Given the description of an element on the screen output the (x, y) to click on. 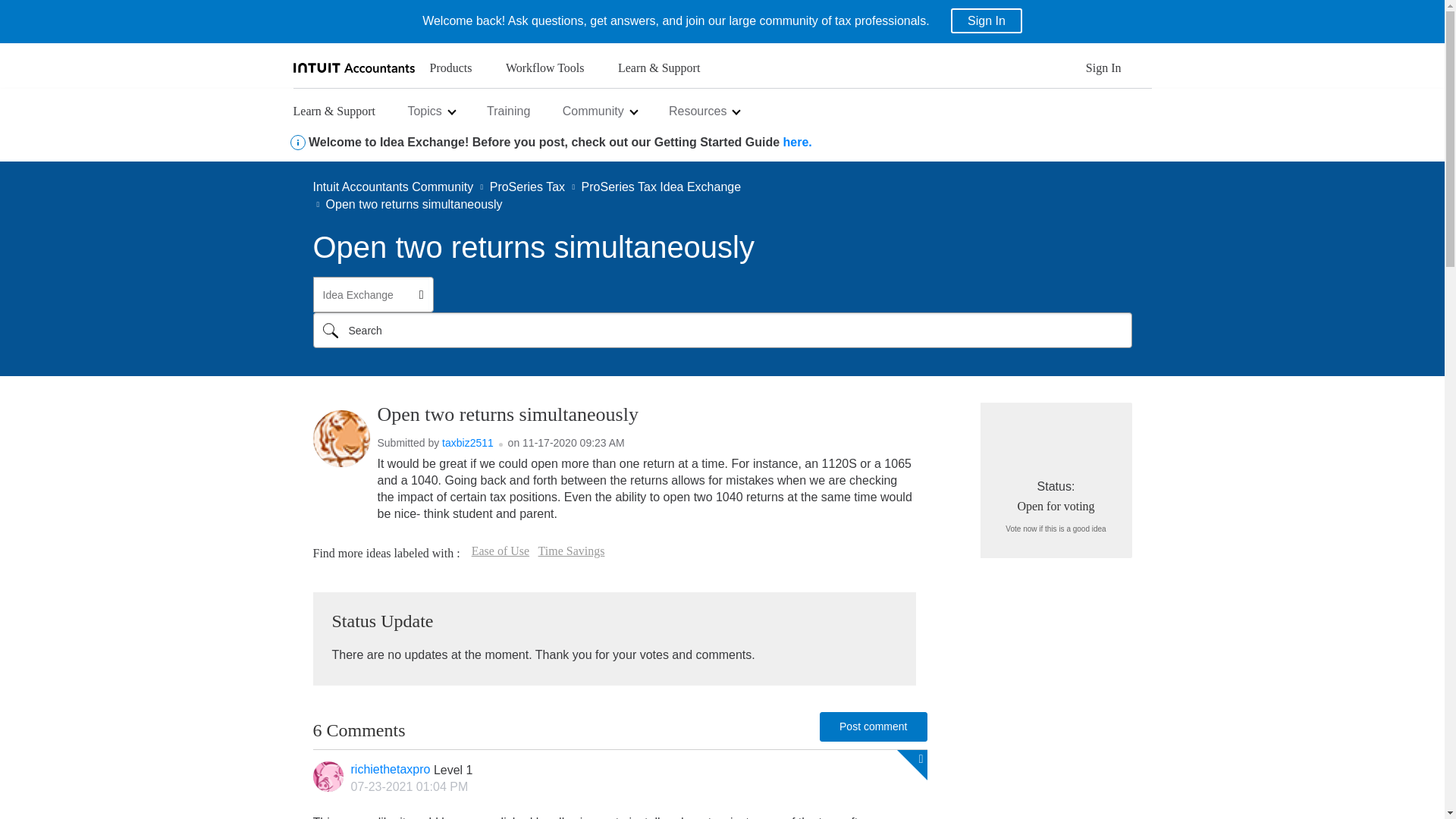
Search (330, 330)
Created with Sketch. (296, 142)
Posted on (617, 786)
Search (330, 330)
richiethetaxpro (327, 776)
taxbiz2511 (341, 438)
Search Granularity (371, 294)
Sign In (986, 20)
Sign In (1103, 72)
Search (722, 330)
